Given the description of an element on the screen output the (x, y) to click on. 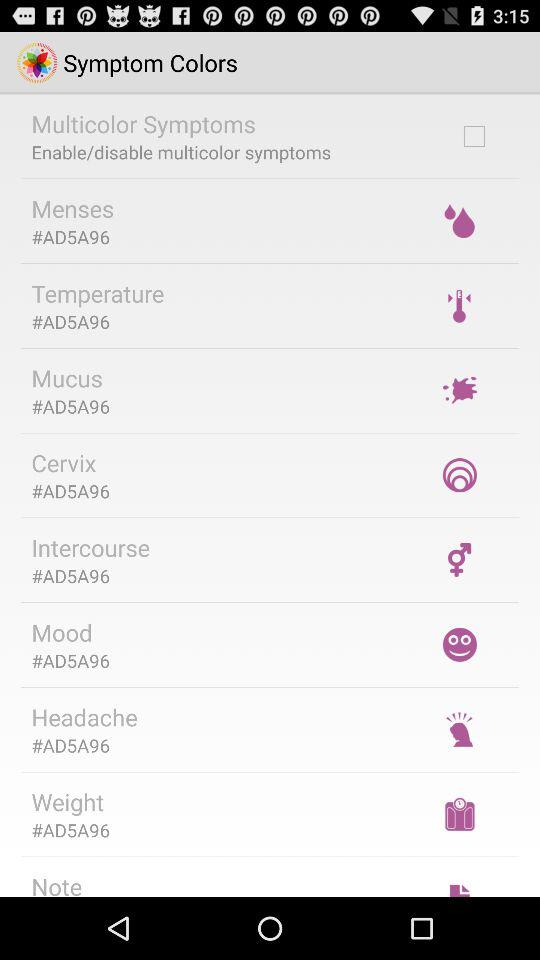
choose item below the #ad5a96 item (56, 883)
